Given the description of an element on the screen output the (x, y) to click on. 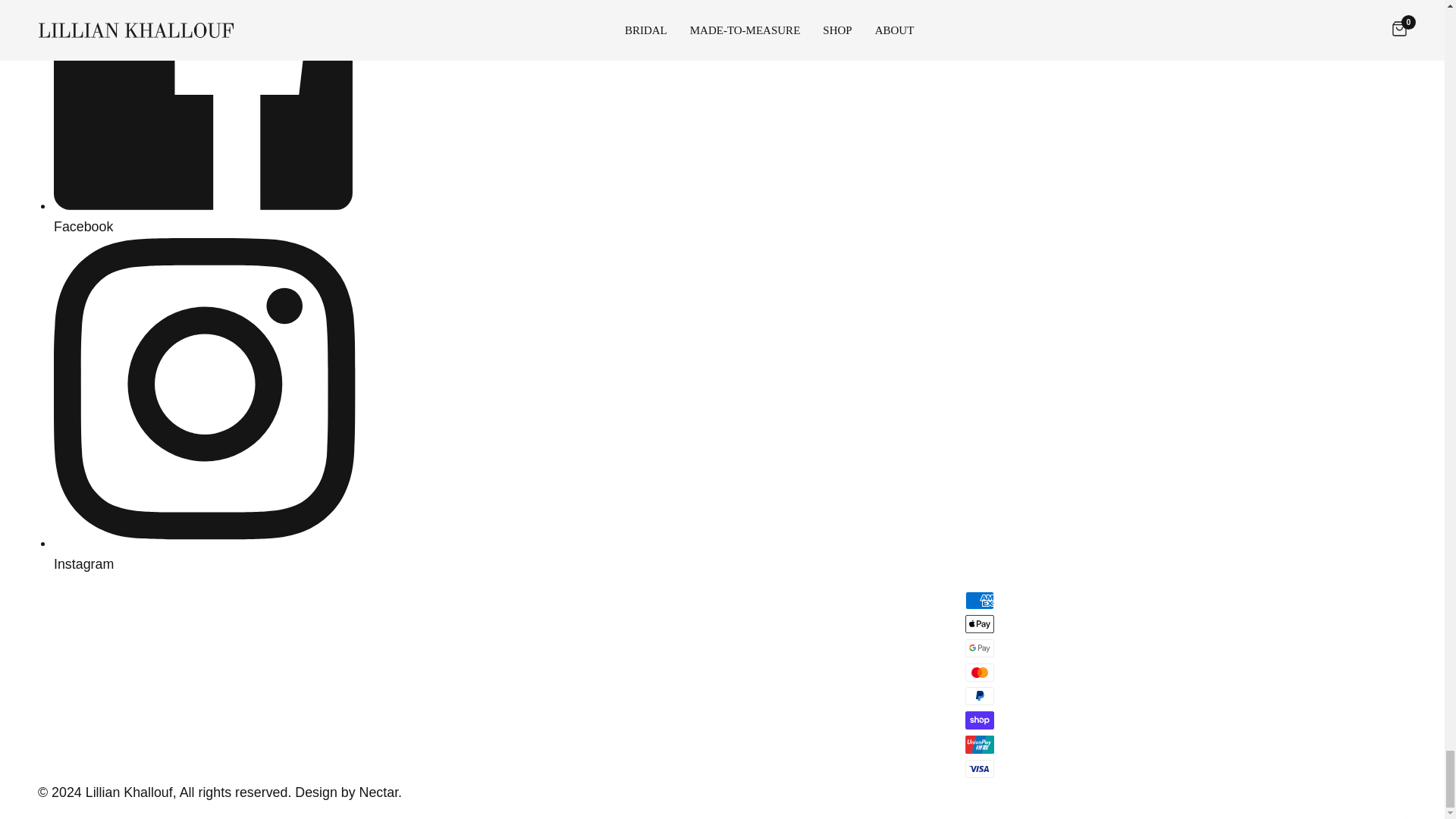
Shop Pay (979, 720)
Apple Pay (979, 624)
Mastercard (979, 672)
Instagram (207, 553)
PayPal (979, 696)
Facebook (207, 216)
Facebook (207, 216)
Instagram (207, 553)
Nectar (378, 792)
American Express (979, 600)
